Given the description of an element on the screen output the (x, y) to click on. 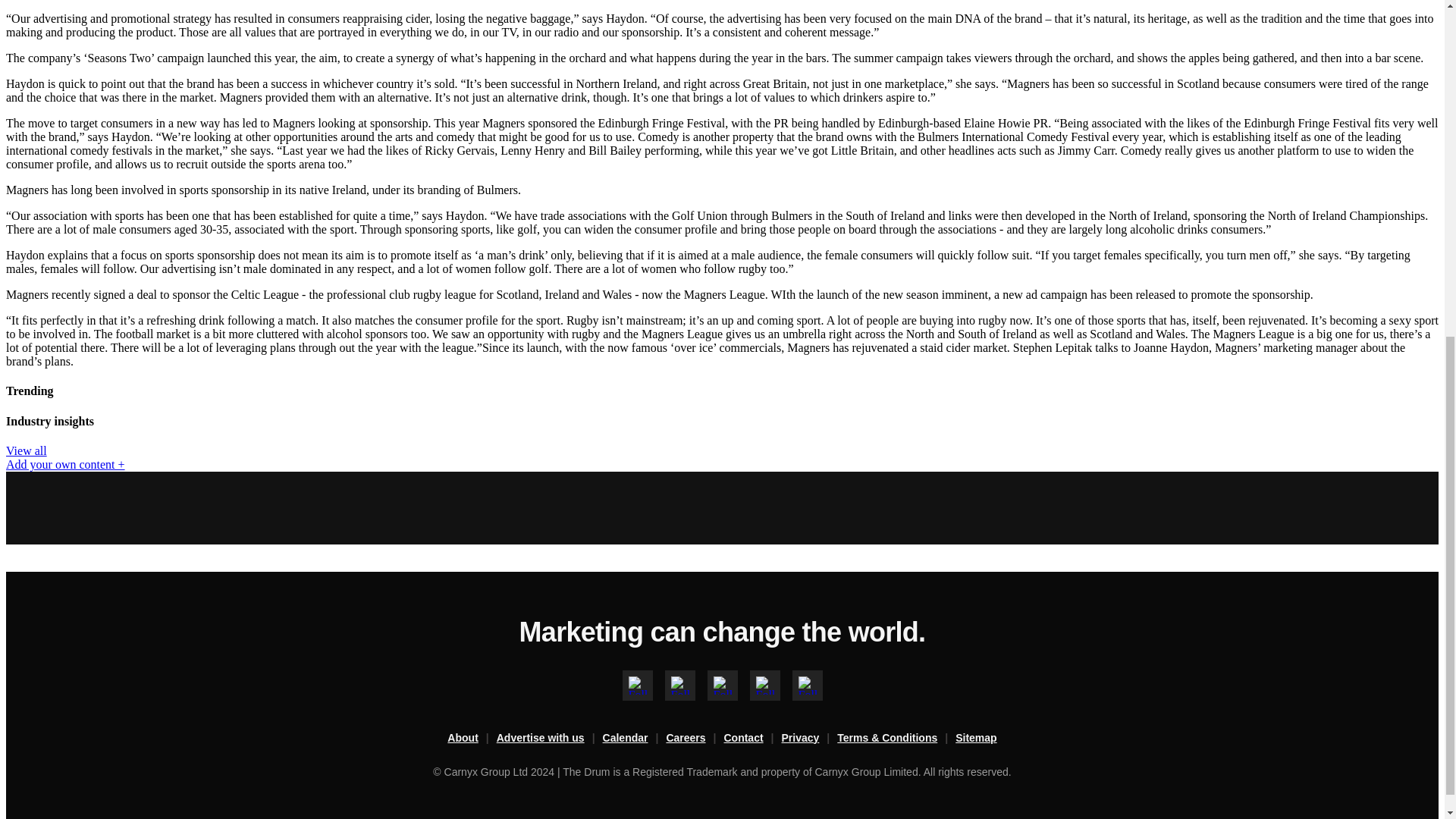
View all (25, 450)
Careers (694, 738)
About (471, 738)
Advertise with us (549, 738)
Contact (751, 738)
Calendar (634, 738)
Privacy (809, 738)
Sitemap (975, 738)
